Given the description of an element on the screen output the (x, y) to click on. 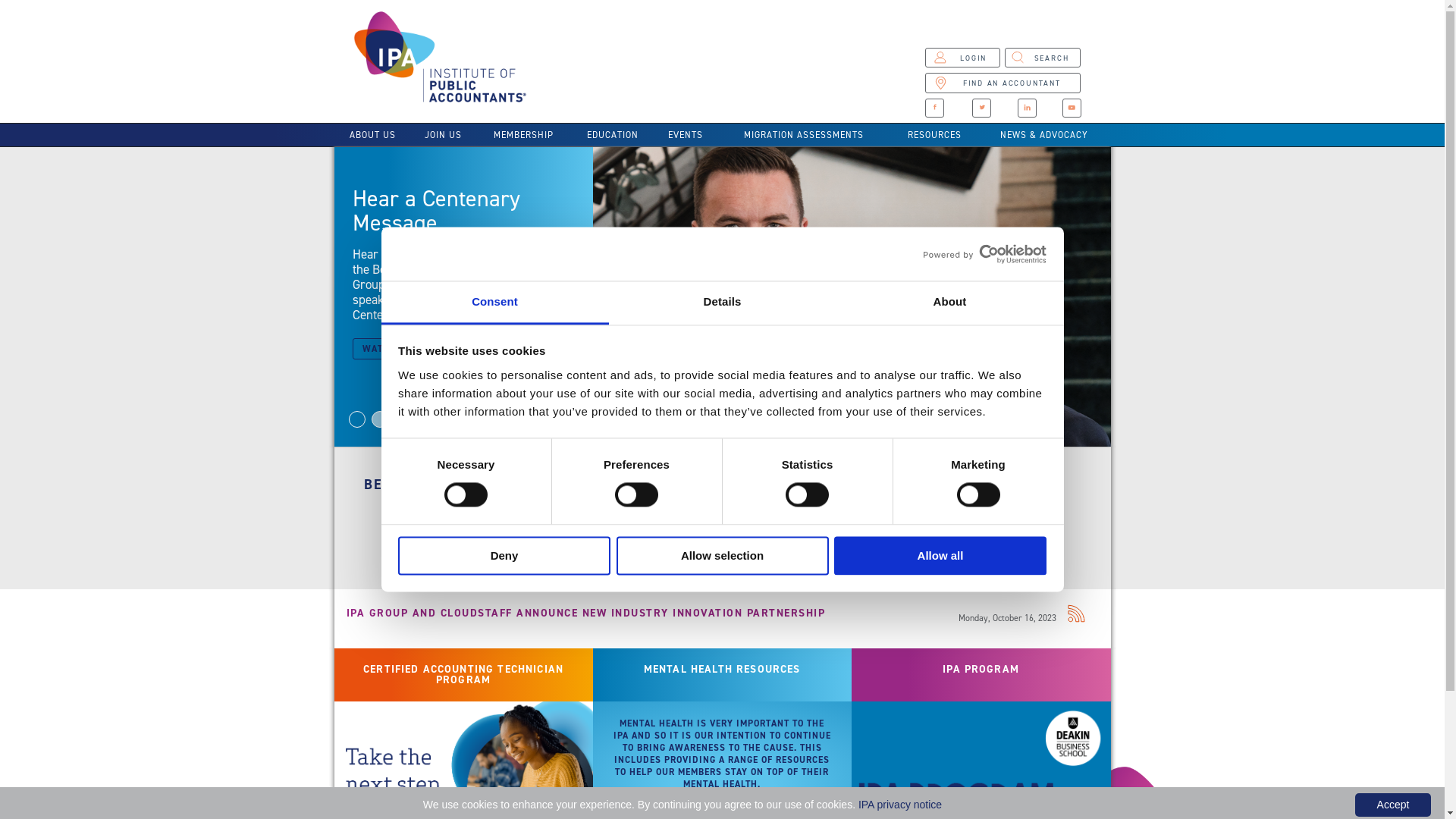
ICON : SEARCH CREATED WITH SKETCH.
SEARCH Element type: text (1042, 57)
ICON : USER COPYCREATED WITH SKETCH.
LOGIN Element type: text (962, 57)
WATCH NOW Element type: text (397, 348)
EVENTS Element type: text (684, 134)
YOUTUBE CREATED WITH SKETCH. Element type: text (1071, 107)
ABOUT US Element type: text (371, 134)
APPLY
NOW Element type: text (819, 534)
ICON CREATED WITH SKETCH. Element type: text (981, 107)
SEARCH
NOW Element type: text (625, 534)
MIGRATION ASSESSMENTS Element type: text (803, 134)
Consent Element type: text (494, 302)
About Element type: text (949, 302)
FACEBOOK ICON CREATED WITH SKETCH. Element type: text (934, 107)
Deny Element type: text (504, 555)
EDUCATION Element type: text (613, 134)
Details Element type: text (721, 302)
RESOURCES Element type: text (934, 134)
APPLY NOW Element type: text (431, 534)
MEMBERSHIP Element type: text (522, 134)
Allow all Element type: text (940, 555)
JOIN US Element type: text (443, 134)
APPLY
NOW Element type: text (1013, 534)
IPA privacy notice Element type: text (899, 804)
LINKDIN Element type: text (1026, 107)
NEWS & ADVOCACY Element type: text (1044, 134)
Allow selection Element type: text (721, 555)
